Given the description of an element on the screen output the (x, y) to click on. 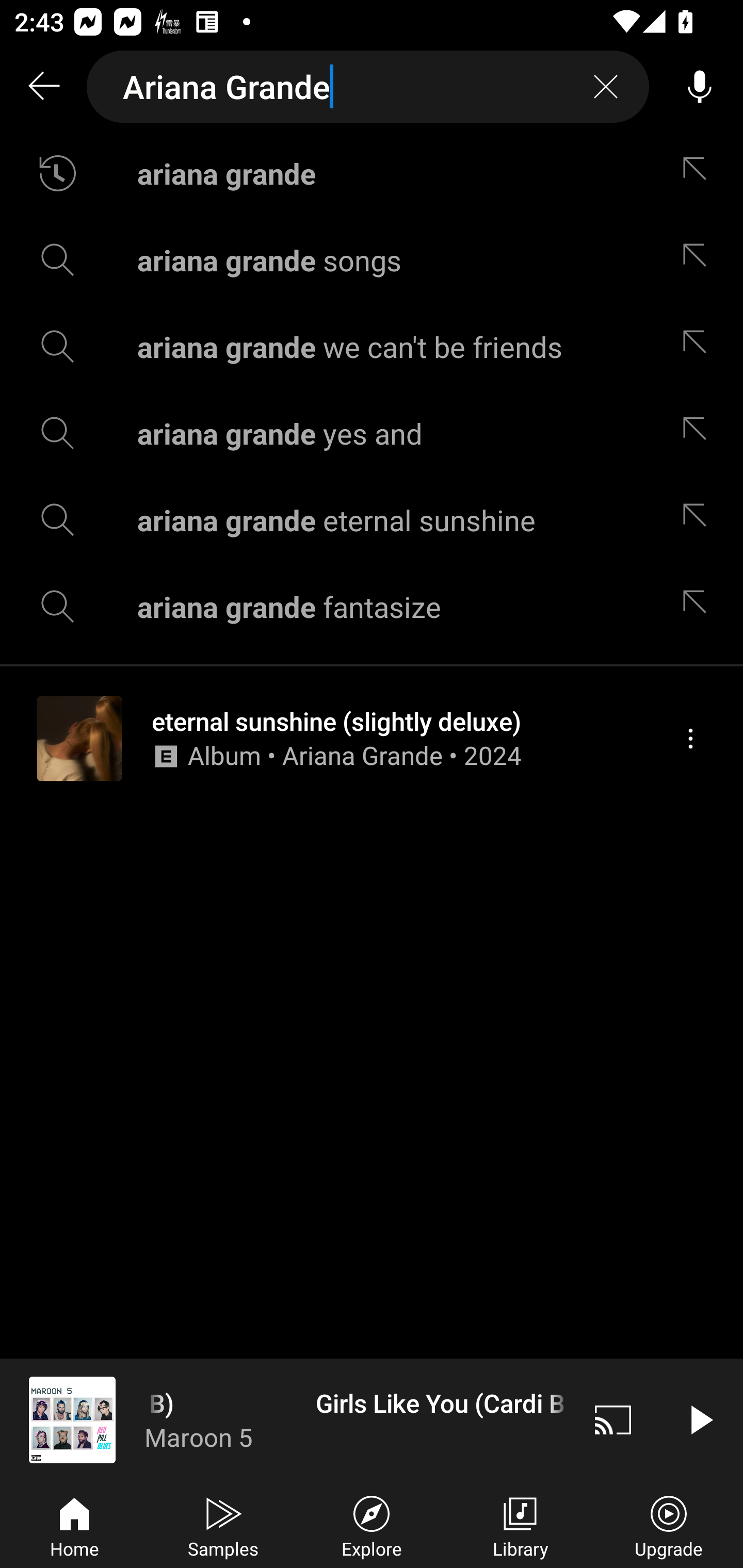
Search back (43, 86)
Ariana Grande (367, 86)
Clear search (605, 86)
Voice search (699, 86)
ariana grande Edit suggestion ariana grande (371, 173)
Edit suggestion ariana grande (699, 173)
Edit suggestion ariana grande songs (699, 259)
Edit suggestion ariana grande we can't be friends (699, 346)
Edit suggestion ariana grande yes and (699, 433)
Edit suggestion ariana grande eternal sunshine (699, 519)
Edit suggestion ariana grande fantasize (699, 605)
Menu (690, 738)
Cast. Disconnected (612, 1419)
Play video (699, 1419)
Home (74, 1524)
Samples (222, 1524)
Explore (371, 1524)
Library (519, 1524)
Upgrade (668, 1524)
